Given the description of an element on the screen output the (x, y) to click on. 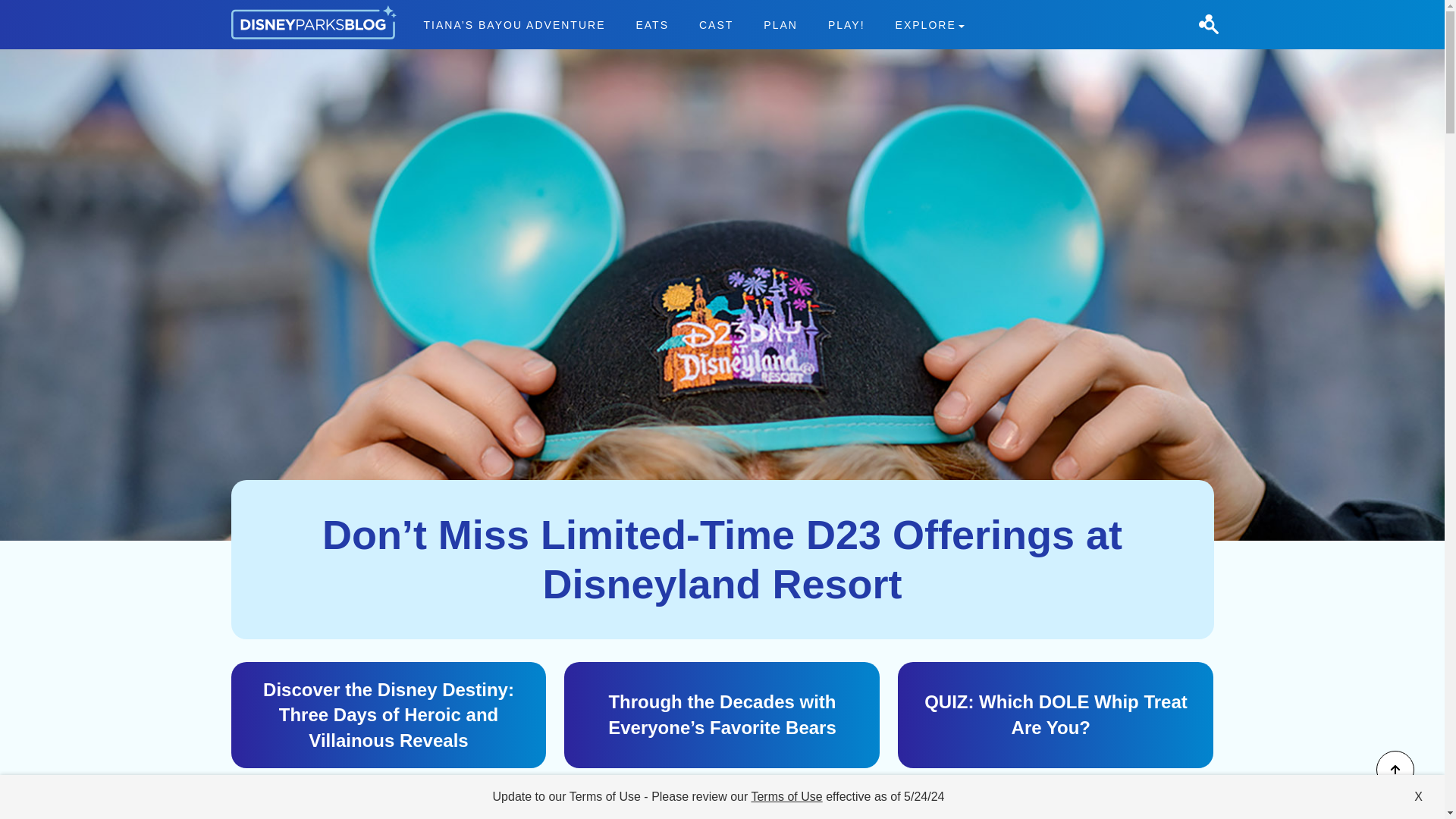
EATS (651, 23)
PLAN (781, 23)
CAST (715, 23)
EXPLORE (930, 23)
PLAY! (846, 23)
QUIZ: Which DOLE Whip Treat Are You?   (1055, 715)
Skip to content (40, 8)
Terms of Use (786, 796)
